Given the description of an element on the screen output the (x, y) to click on. 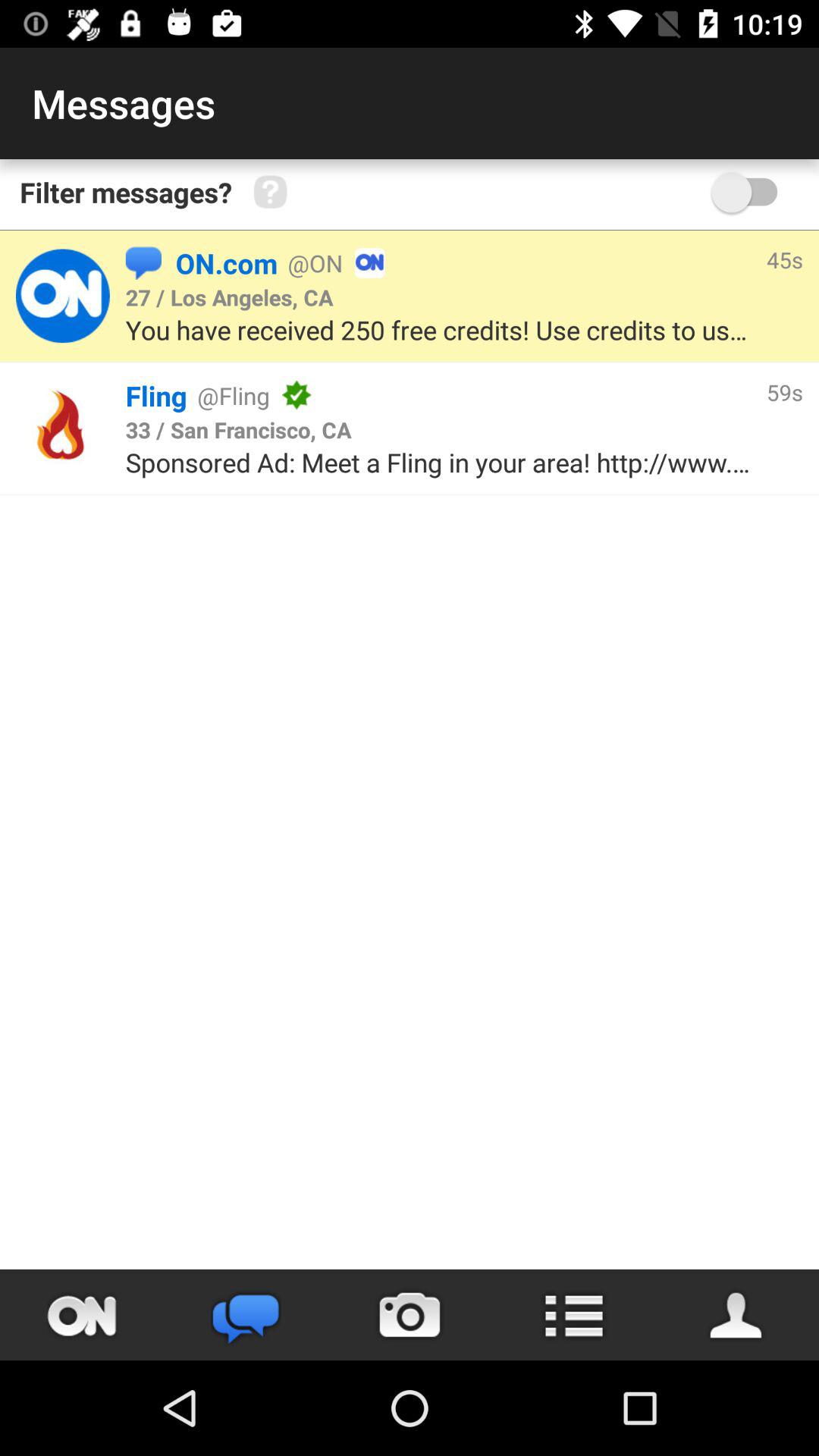
toggle notifications (81, 1315)
